Given the description of an element on the screen output the (x, y) to click on. 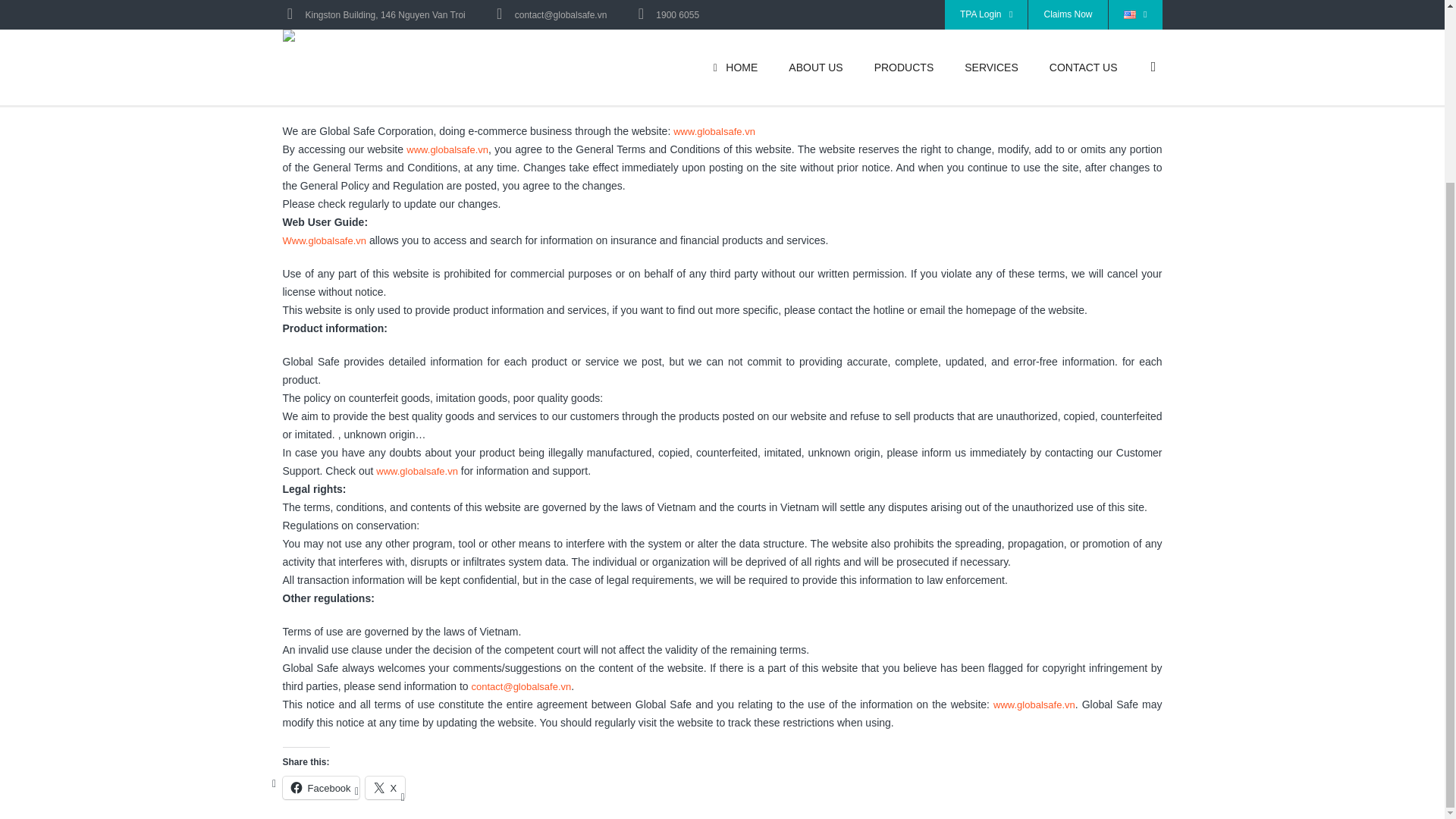
Facebook (320, 787)
X (385, 787)
Www.globalsafe.vn (324, 240)
www.globalsafe.vn (416, 471)
www.globalsafe.vn (713, 131)
www.globalsafe.vn (1033, 704)
www.globalsafe.vn (446, 149)
